Given the description of an element on the screen output the (x, y) to click on. 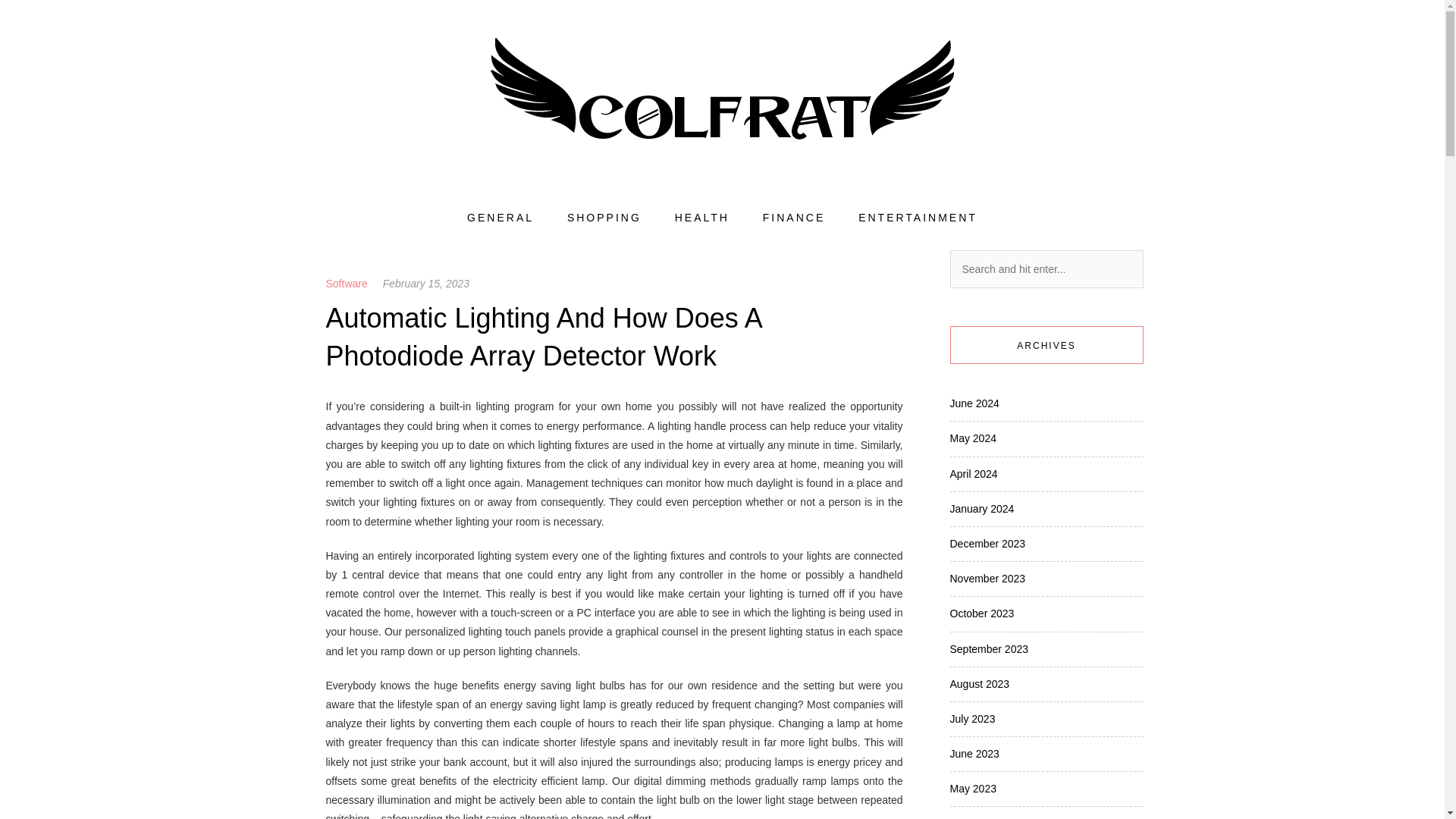
November 2023 (987, 578)
February 15, 2023 (425, 283)
October 2023 (981, 613)
January 2024 (981, 508)
August 2023 (979, 684)
June 2023 (973, 753)
July 2023 (971, 718)
June 2024 (973, 403)
ENTERTAINMENT (917, 217)
April 2023 (973, 818)
